Given the description of an element on the screen output the (x, y) to click on. 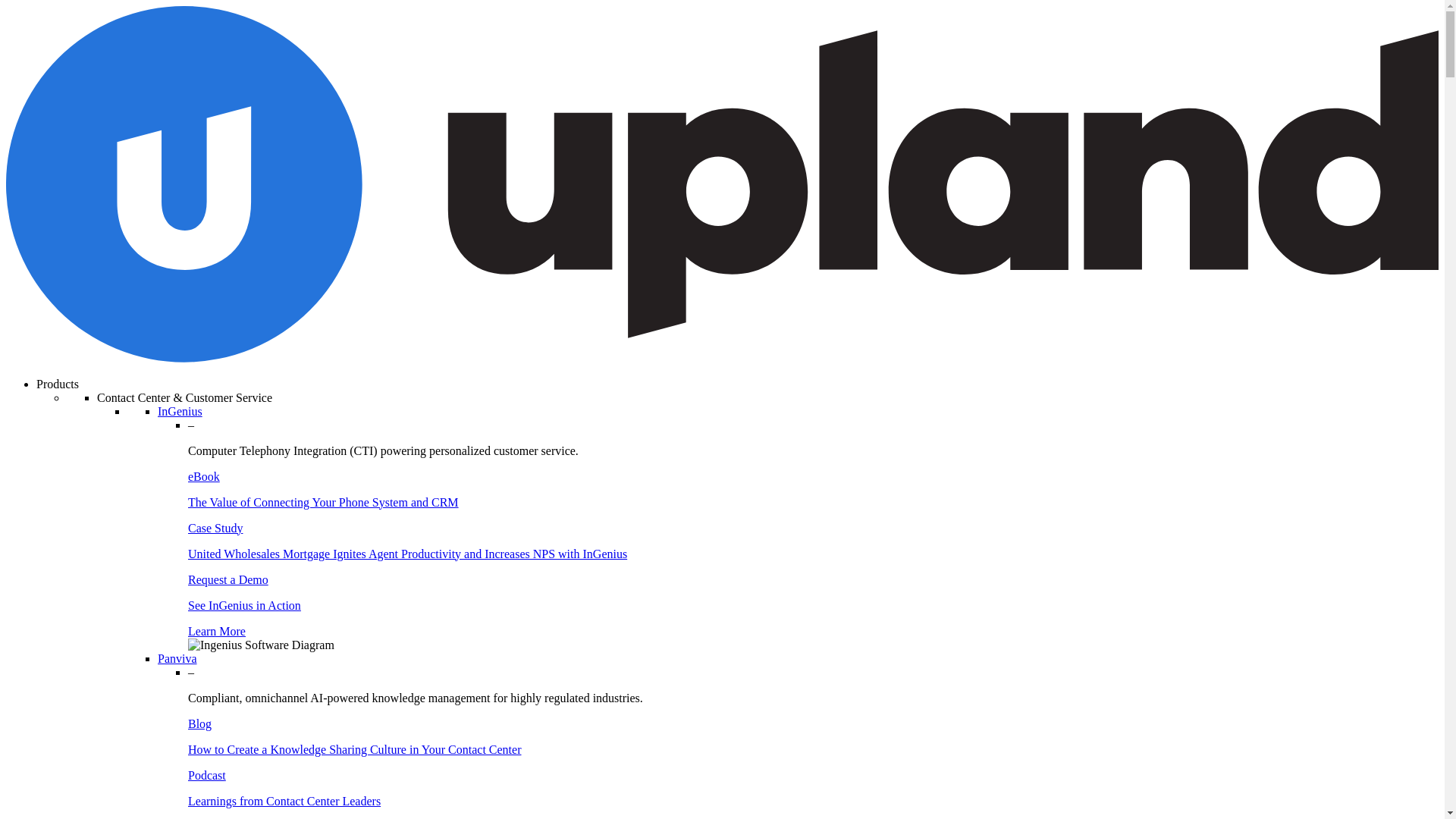
InGenius (179, 410)
Learn More (216, 631)
Panviva (176, 658)
